Given the description of an element on the screen output the (x, y) to click on. 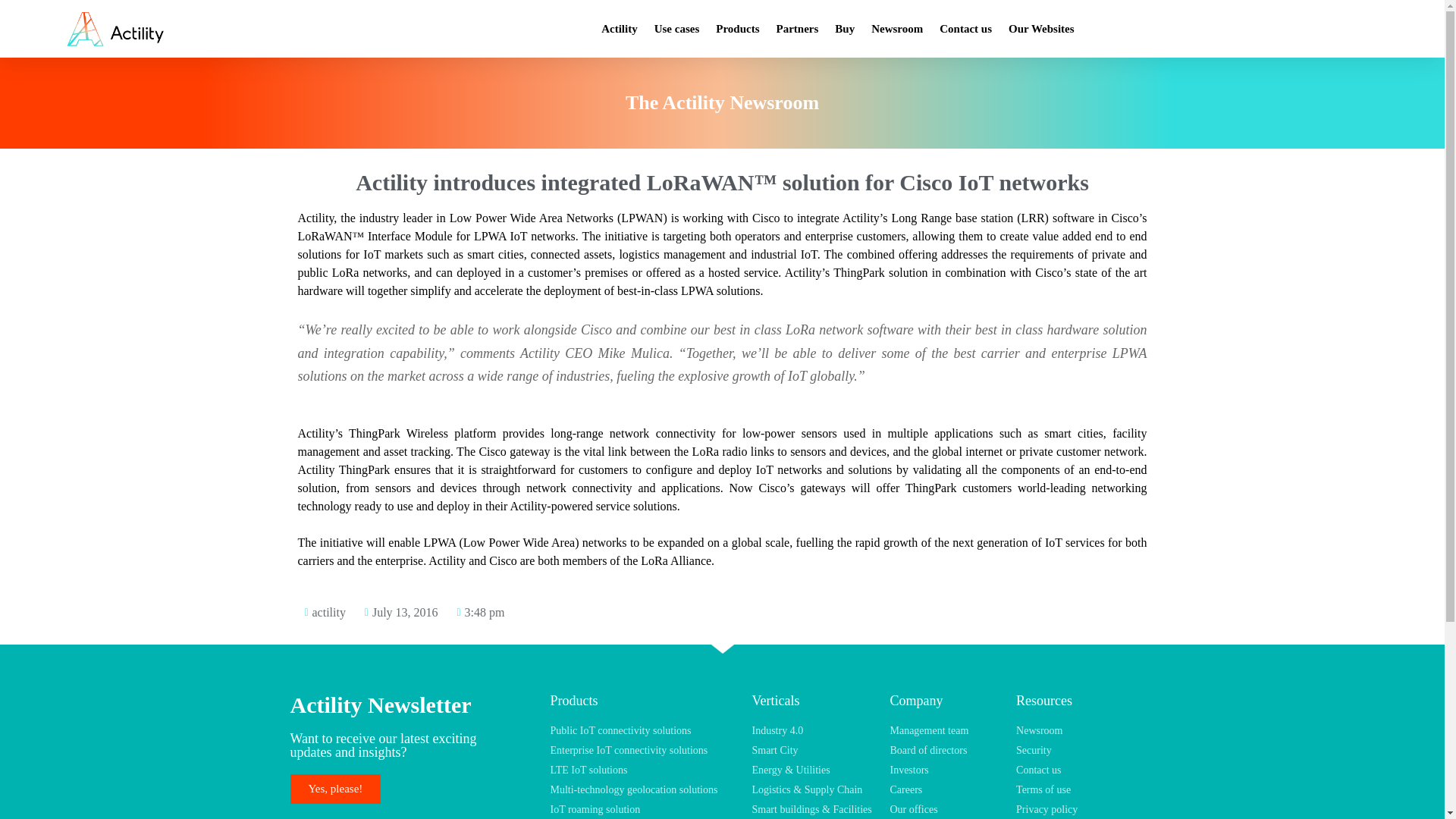
Use cases (676, 28)
Products (737, 28)
Actility (618, 28)
Partners (797, 28)
Newsroom (897, 28)
Buy (845, 28)
